Given the description of an element on the screen output the (x, y) to click on. 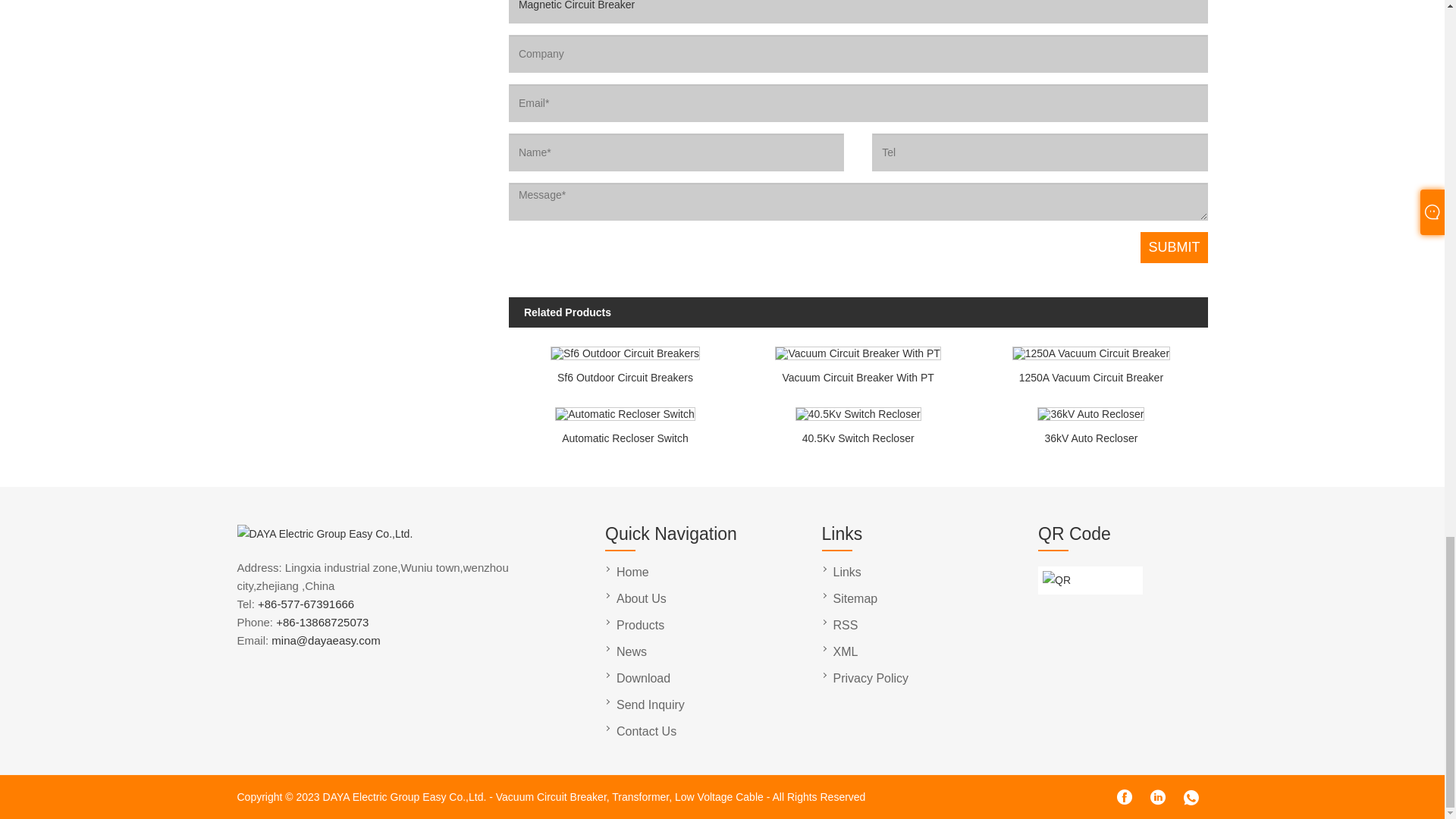
SUBMIT (1173, 246)
Magnetic Circuit Breaker (858, 11)
